Given the description of an element on the screen output the (x, y) to click on. 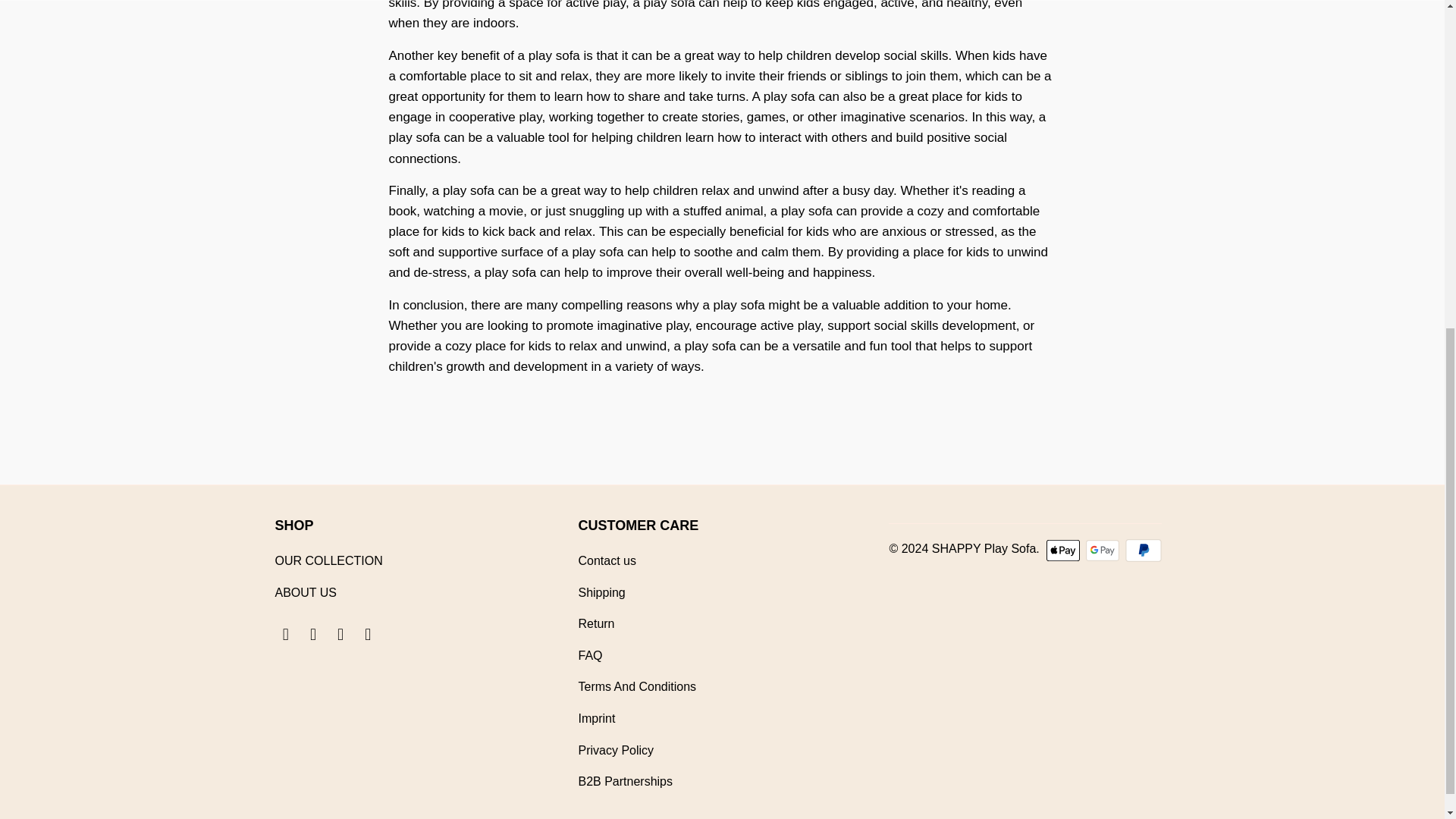
SHAPPY Play Sofa on Pinterest (313, 634)
SHAPPY Play Sofa on Instagram (341, 634)
SHAPPY Play Sofa on Facebook (286, 634)
Google Pay (1104, 549)
Email SHAPPY Play Sofa (368, 634)
PayPal (1143, 549)
Apple Pay (1064, 549)
